Given the description of an element on the screen output the (x, y) to click on. 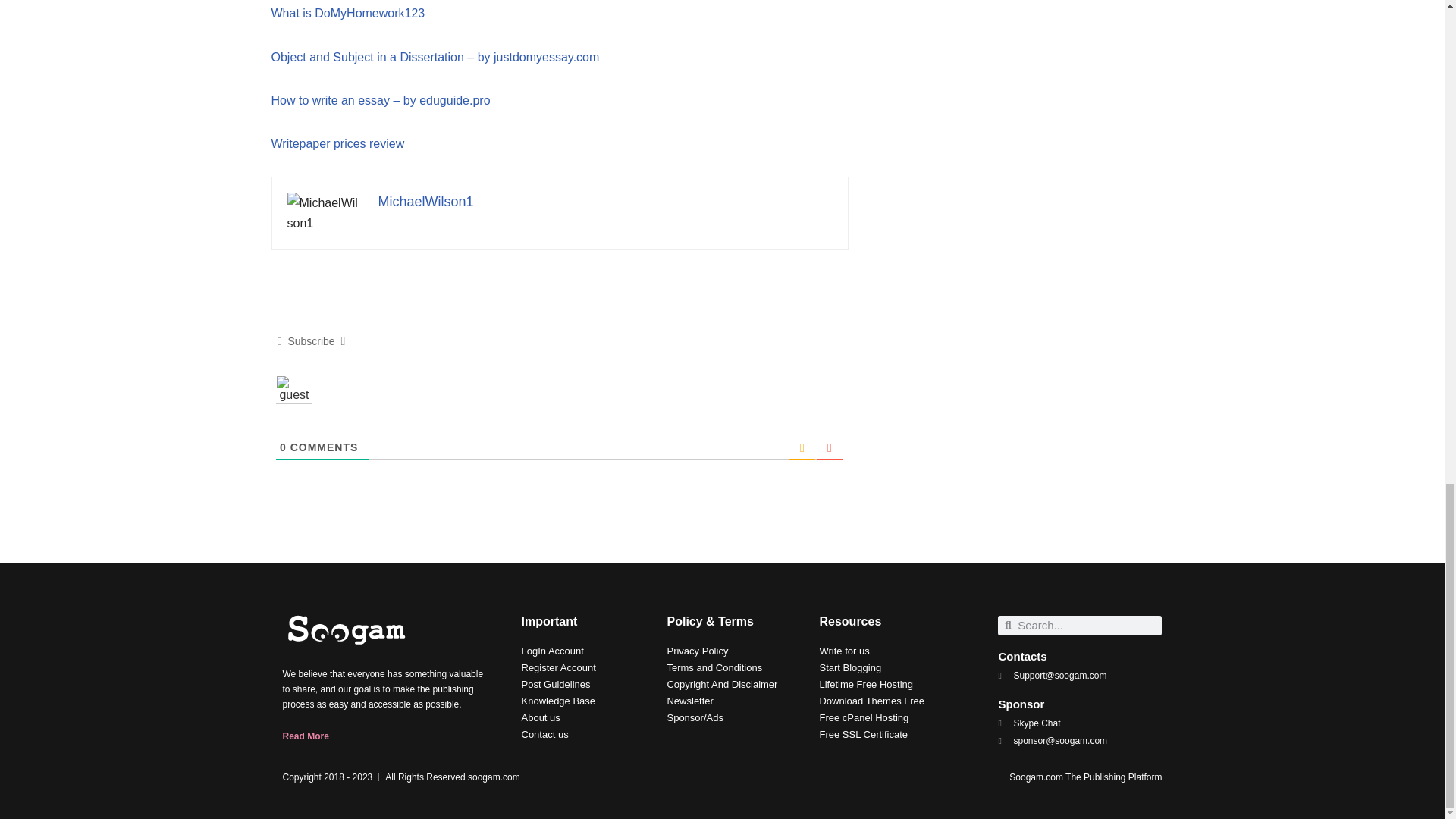
Writepaper prices review (337, 143)
MichaelWilson1 (425, 201)
What is DoMyHomework123 (347, 12)
